Given the description of an element on the screen output the (x, y) to click on. 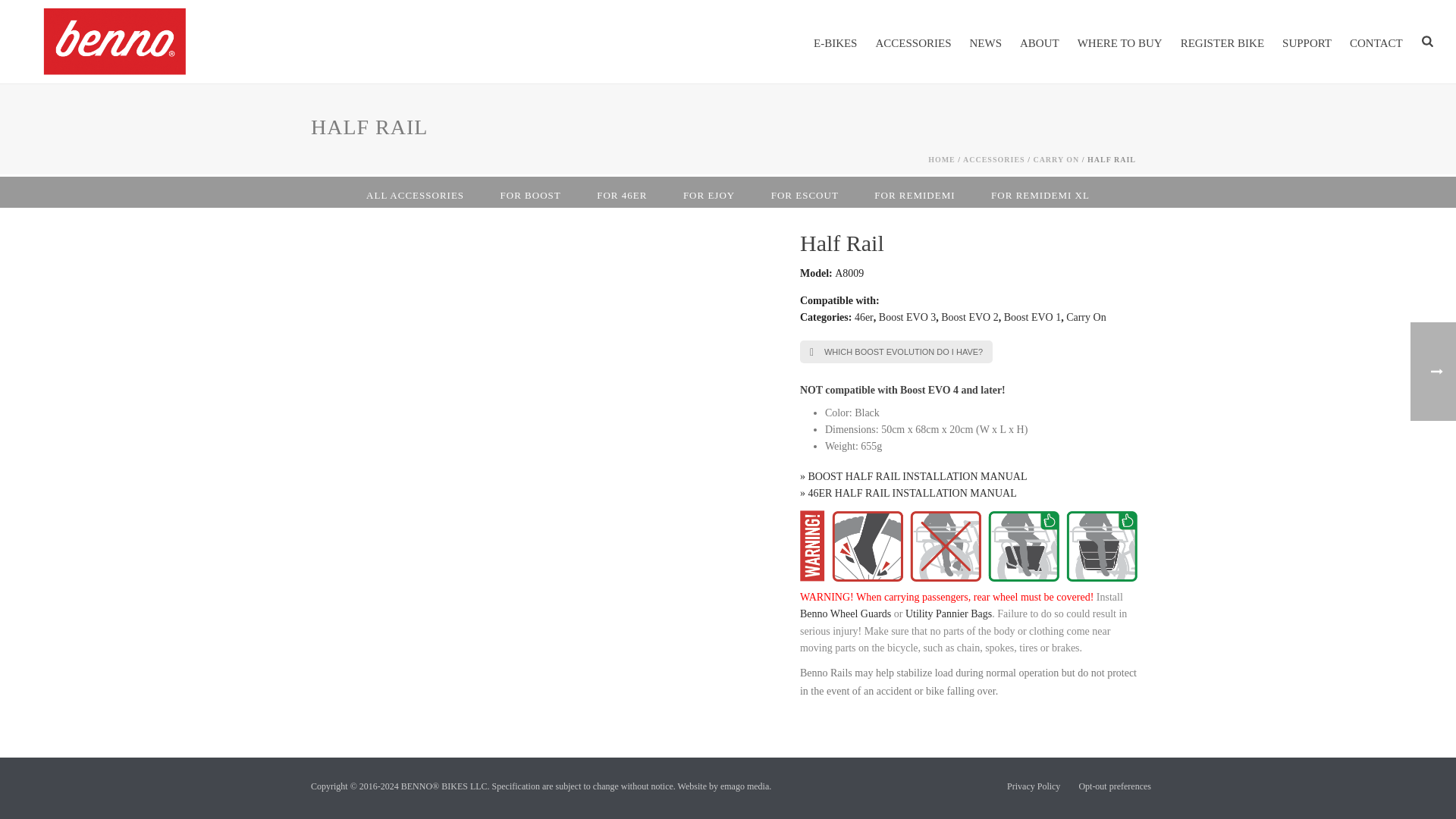
REGISTER BIKE (1222, 41)
WHERE TO BUY (1120, 41)
REGISTER BIKE (1222, 41)
ACCESSORIES (912, 41)
WHERE TO BUY (1120, 41)
ACCESSORIES (912, 41)
MORE REASONS TO RIDE. (129, 41)
